Given the description of an element on the screen output the (x, y) to click on. 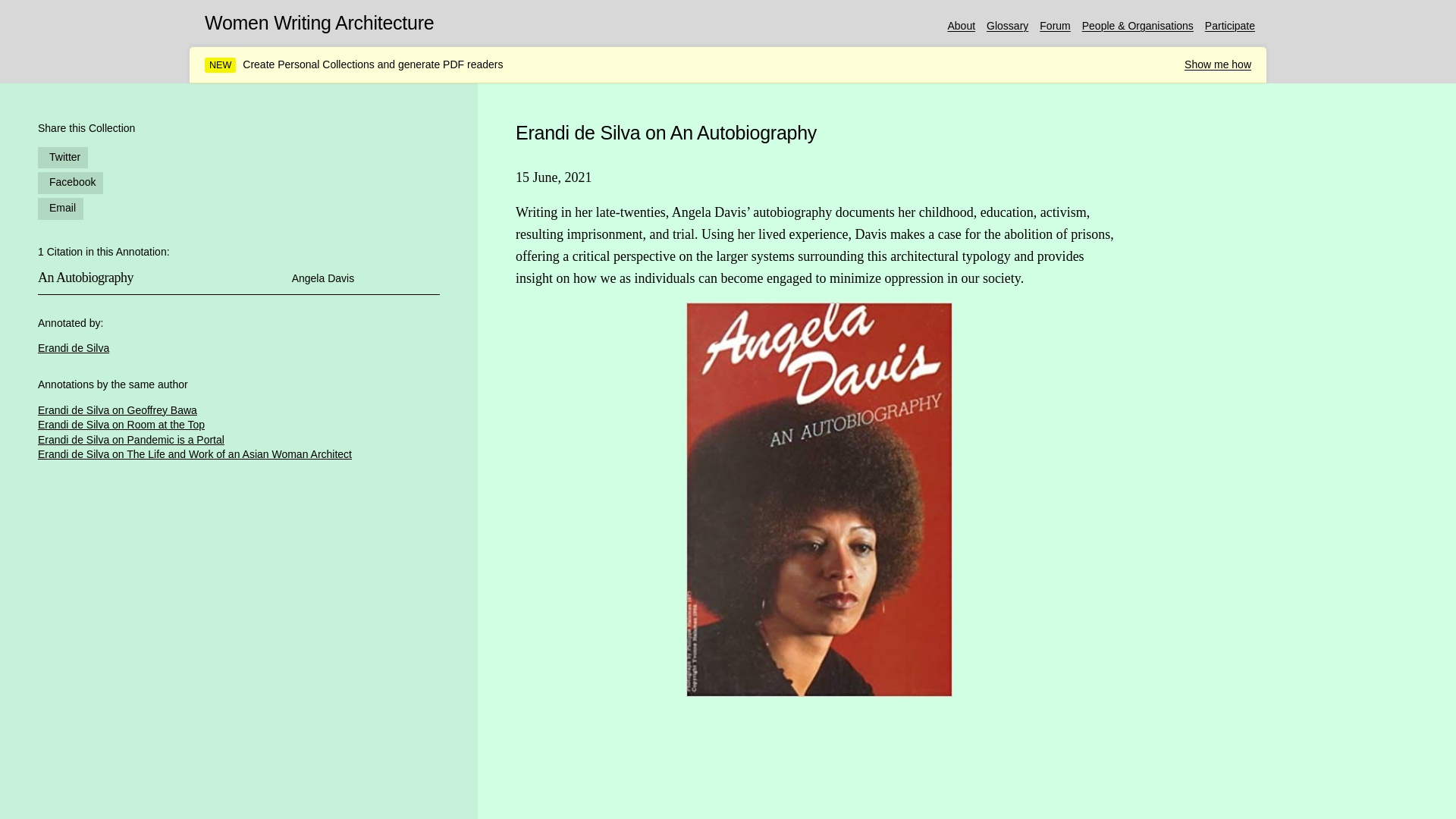
Erandi de Silva on Room at the Top (121, 424)
Erandi de Silva on Pandemic is a Portal (130, 439)
Participate (1230, 26)
Email (60, 207)
An Autobiography (111, 293)
Women Writing Architecture (319, 22)
Erandi de Silva (73, 347)
Erandi de Silva on Geoffrey Bawa (116, 410)
Facebook (70, 182)
Forum (1054, 26)
Angela Davis (323, 277)
Glossary (1007, 26)
Angela Davis (742, 296)
An Autobiography (85, 277)
